Given the description of an element on the screen output the (x, y) to click on. 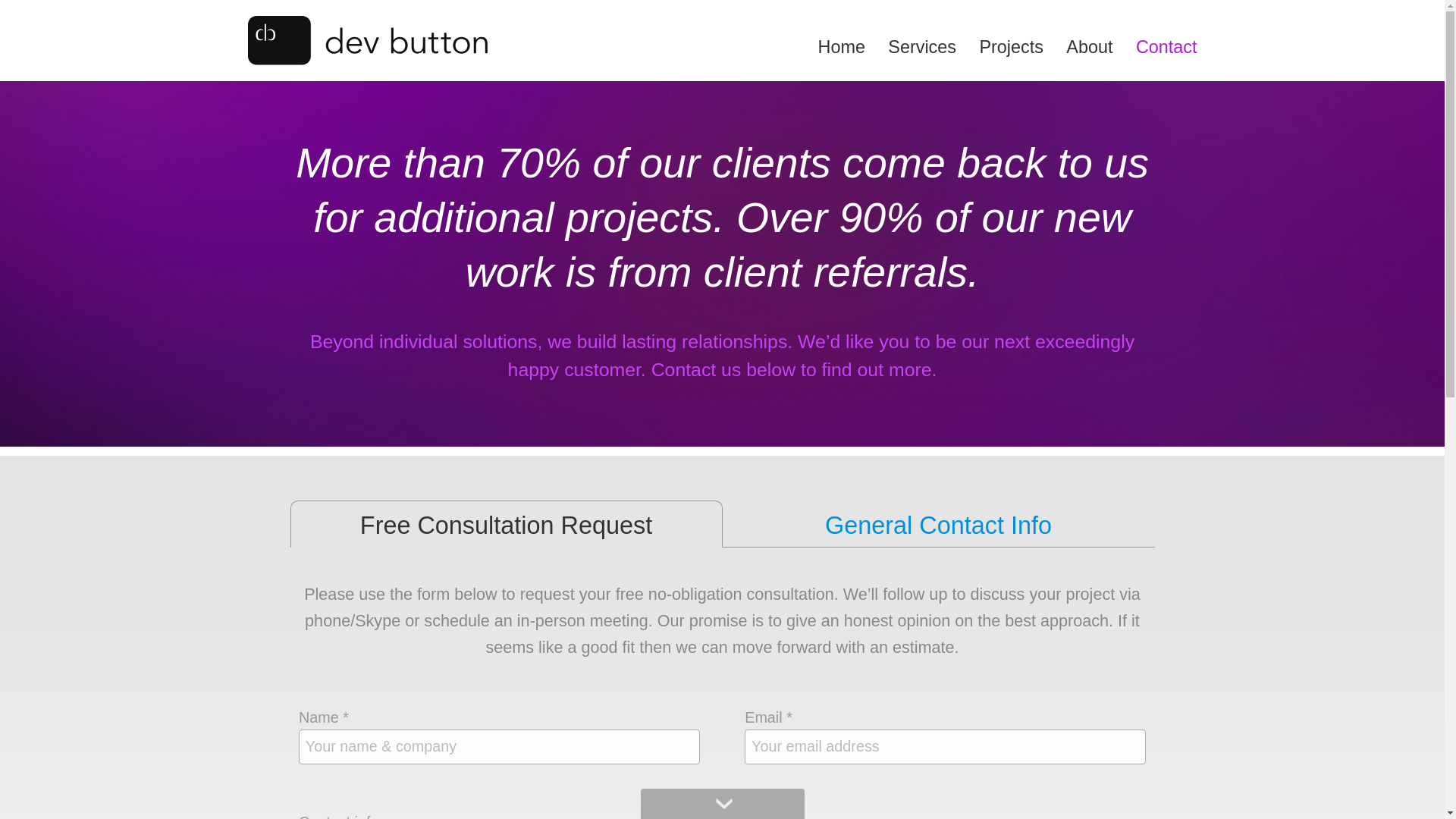
Free Consultation Request (505, 526)
Contact (1154, 47)
Services (910, 47)
Home (829, 47)
Projects (999, 47)
General Contact Info (938, 526)
About (1078, 47)
